Given the description of an element on the screen output the (x, y) to click on. 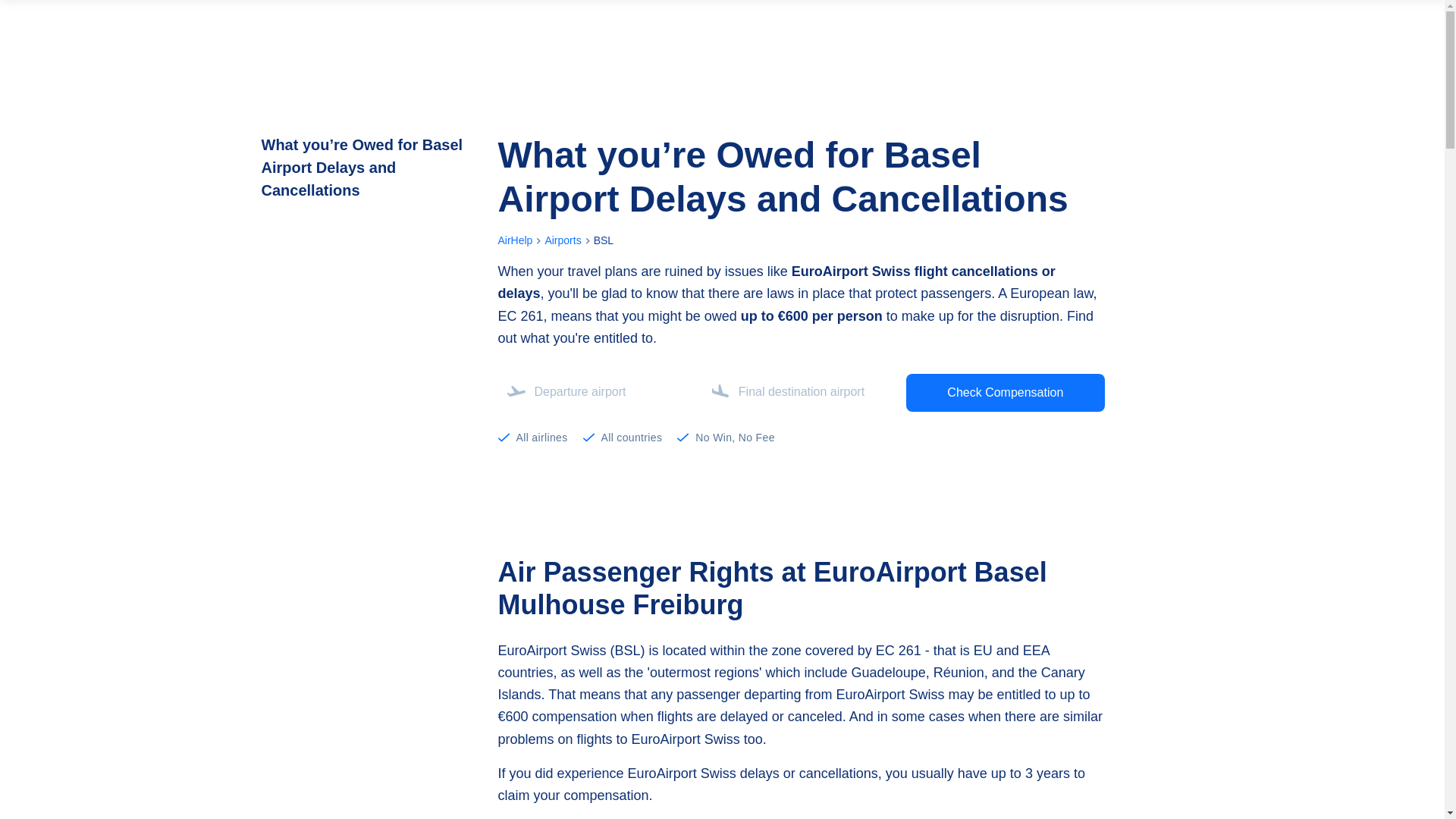
AirHelp (514, 240)
Airports (562, 240)
Check Compensation (1004, 392)
Check Compensation (1004, 392)
